Given the description of an element on the screen output the (x, y) to click on. 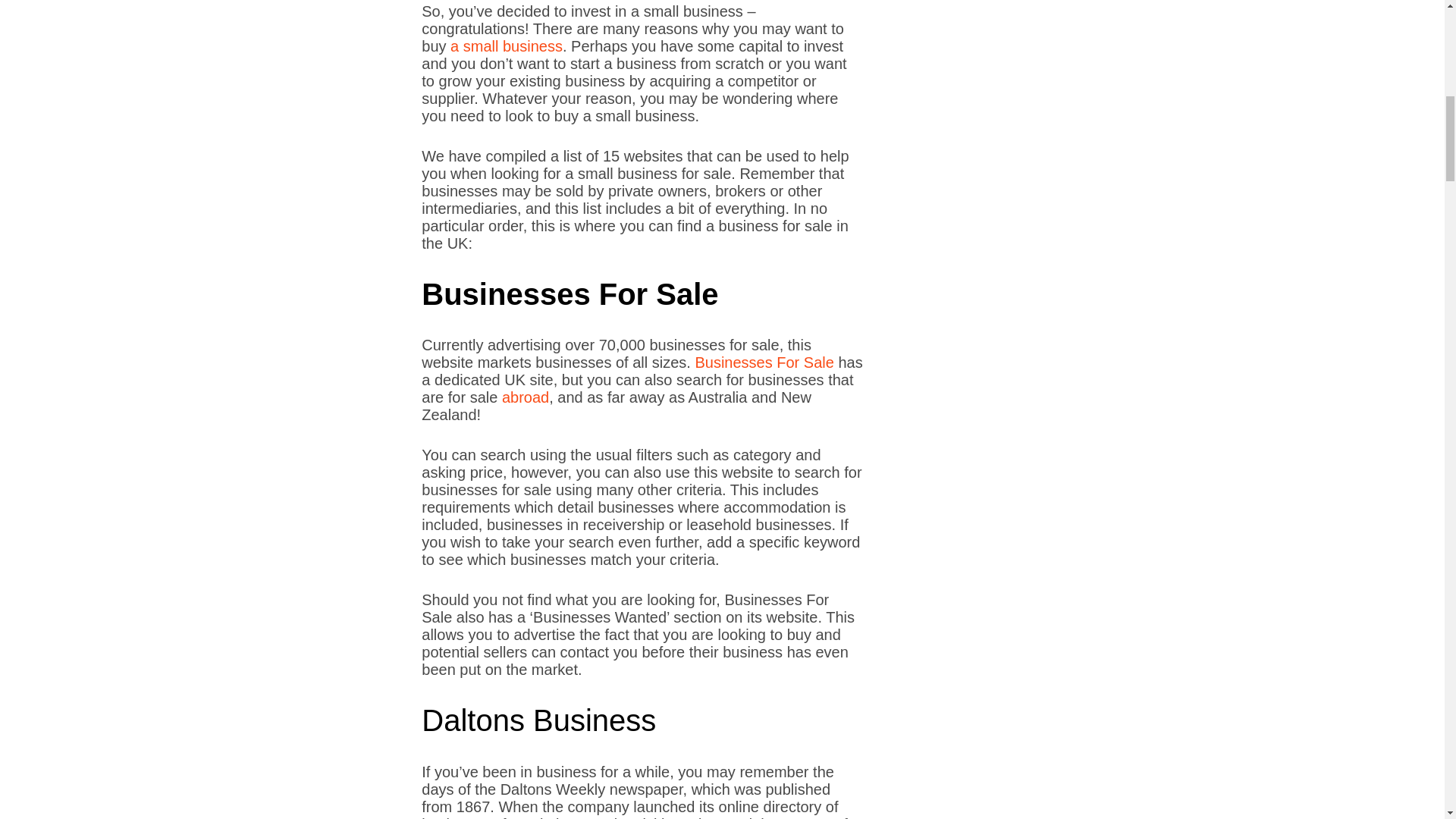
a small business (505, 45)
